Given the description of an element on the screen output the (x, y) to click on. 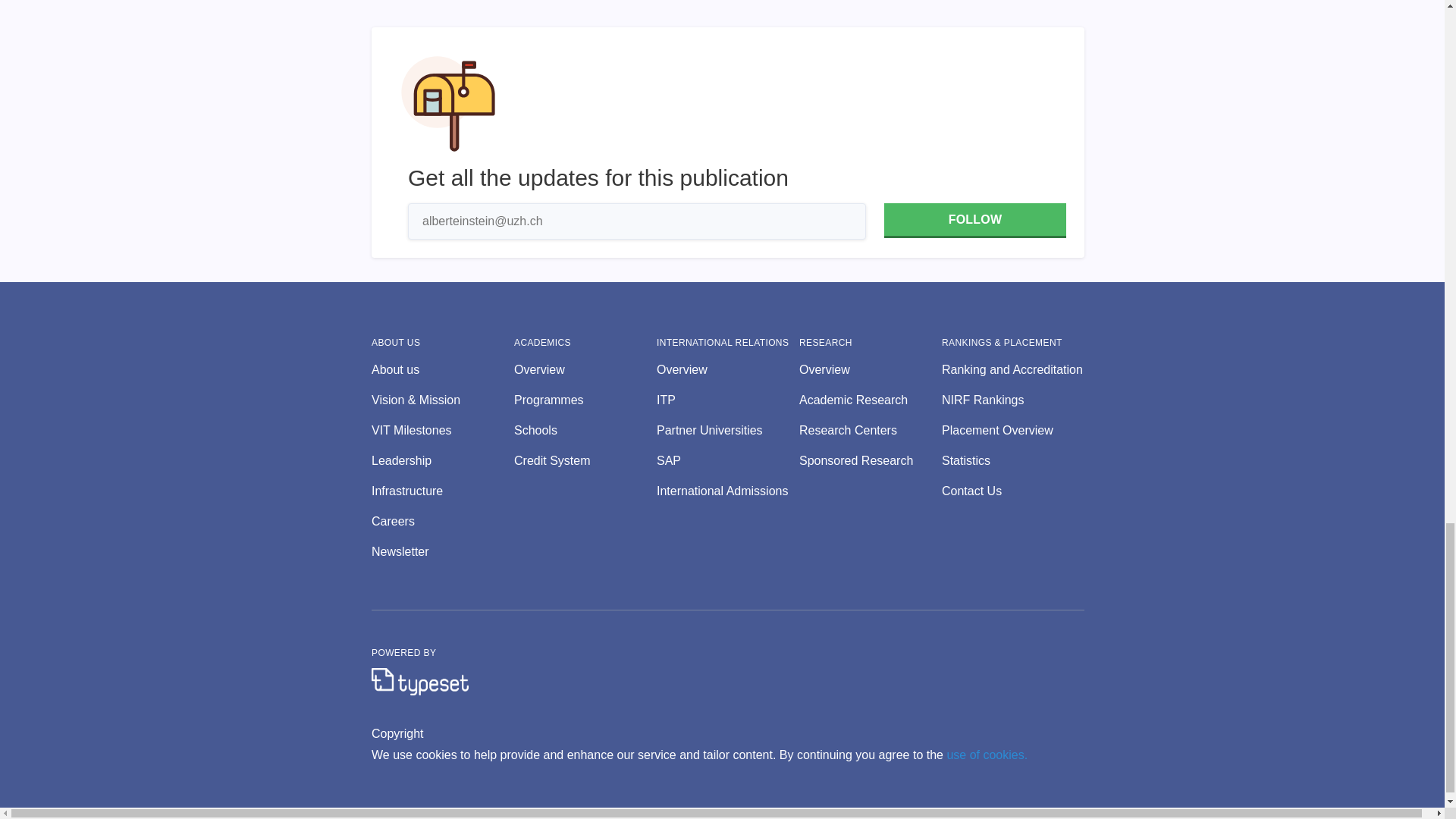
Credit System (584, 461)
Infrastructure (442, 491)
Partner Universities (727, 430)
Programmes (584, 400)
ITP (727, 400)
VIT Milestones (442, 430)
Subscribe form hero illustration (448, 103)
Logo of Typeset (419, 681)
SAP (727, 461)
Overview (727, 370)
